Given the description of an element on the screen output the (x, y) to click on. 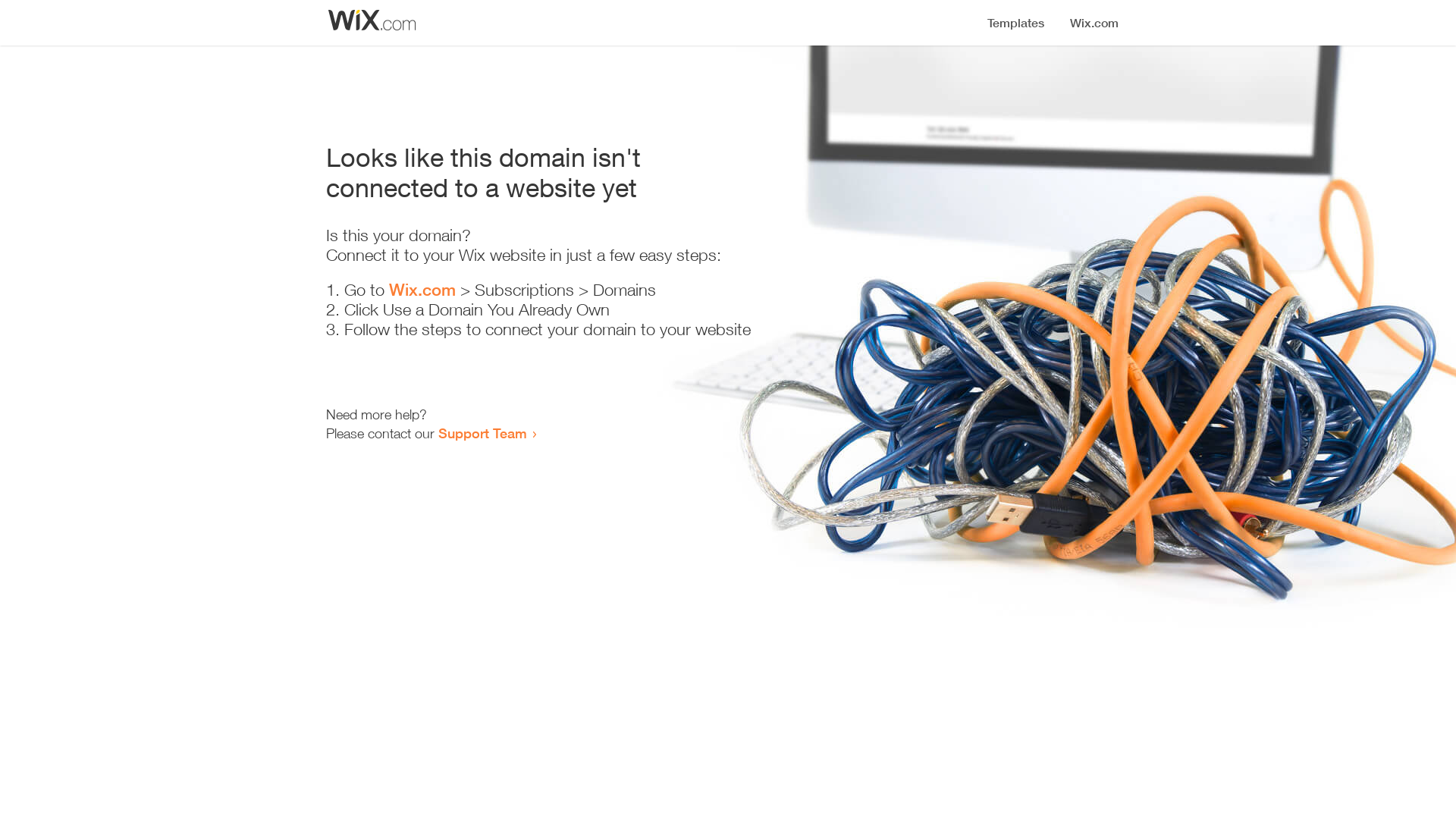
Wix.com Element type: text (422, 289)
Support Team Element type: text (482, 432)
